Given the description of an element on the screen output the (x, y) to click on. 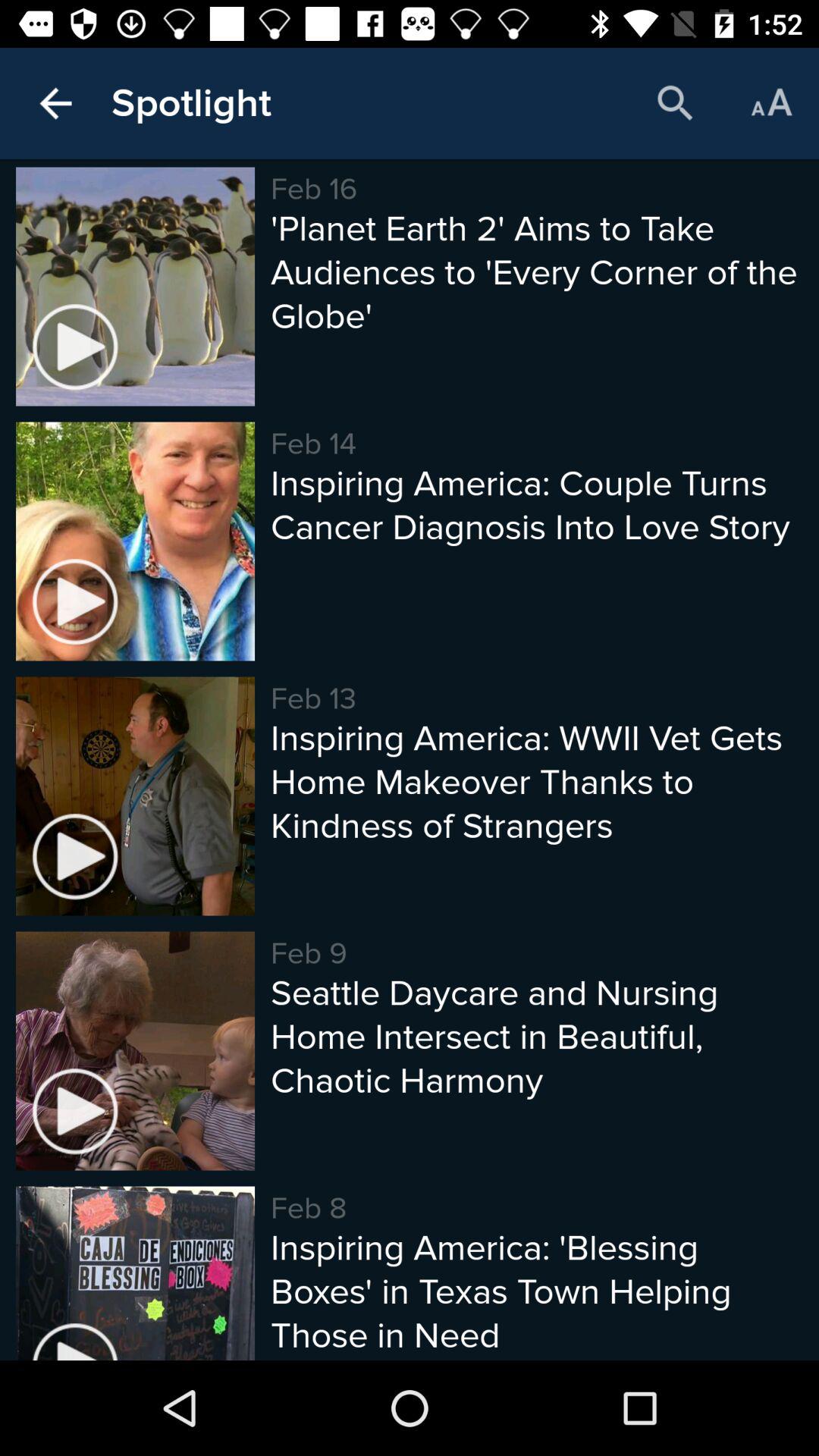
open the icon to the left of the spotlight item (55, 103)
